Given the description of an element on the screen output the (x, y) to click on. 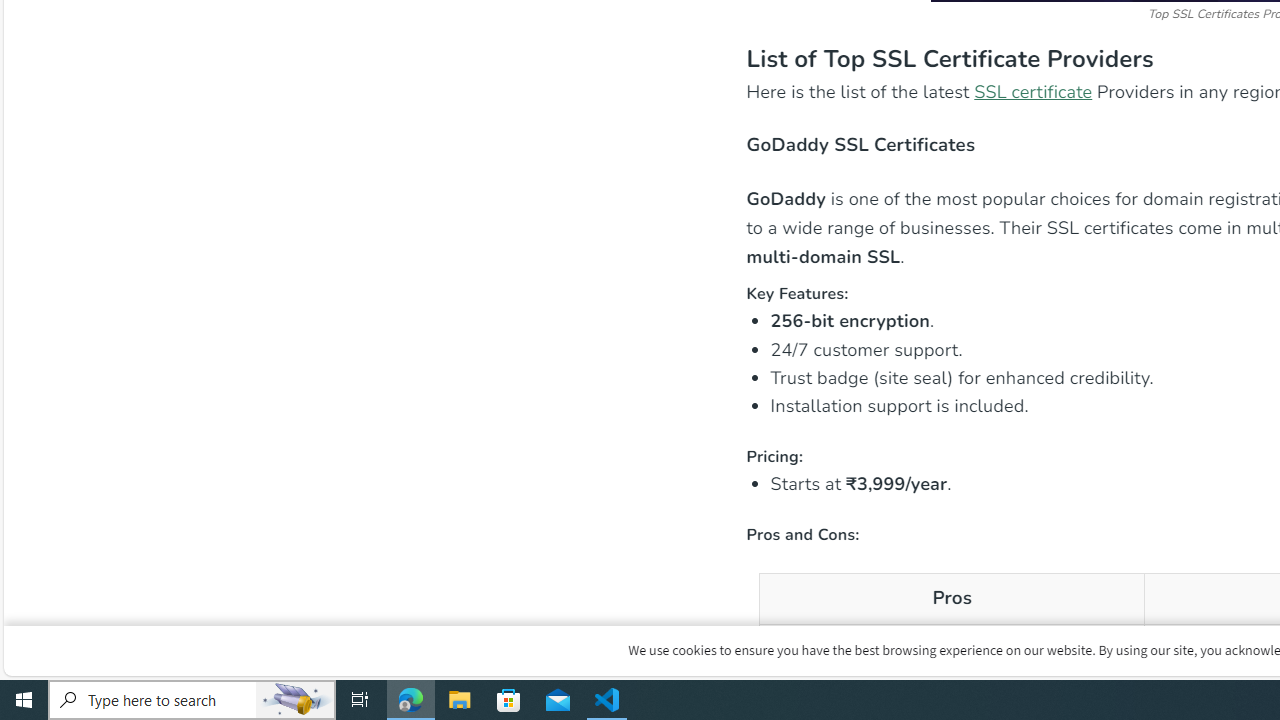
SSL certificate (1033, 92)
Lightbox (1272, 13)
